Given the description of an element on the screen output the (x, y) to click on. 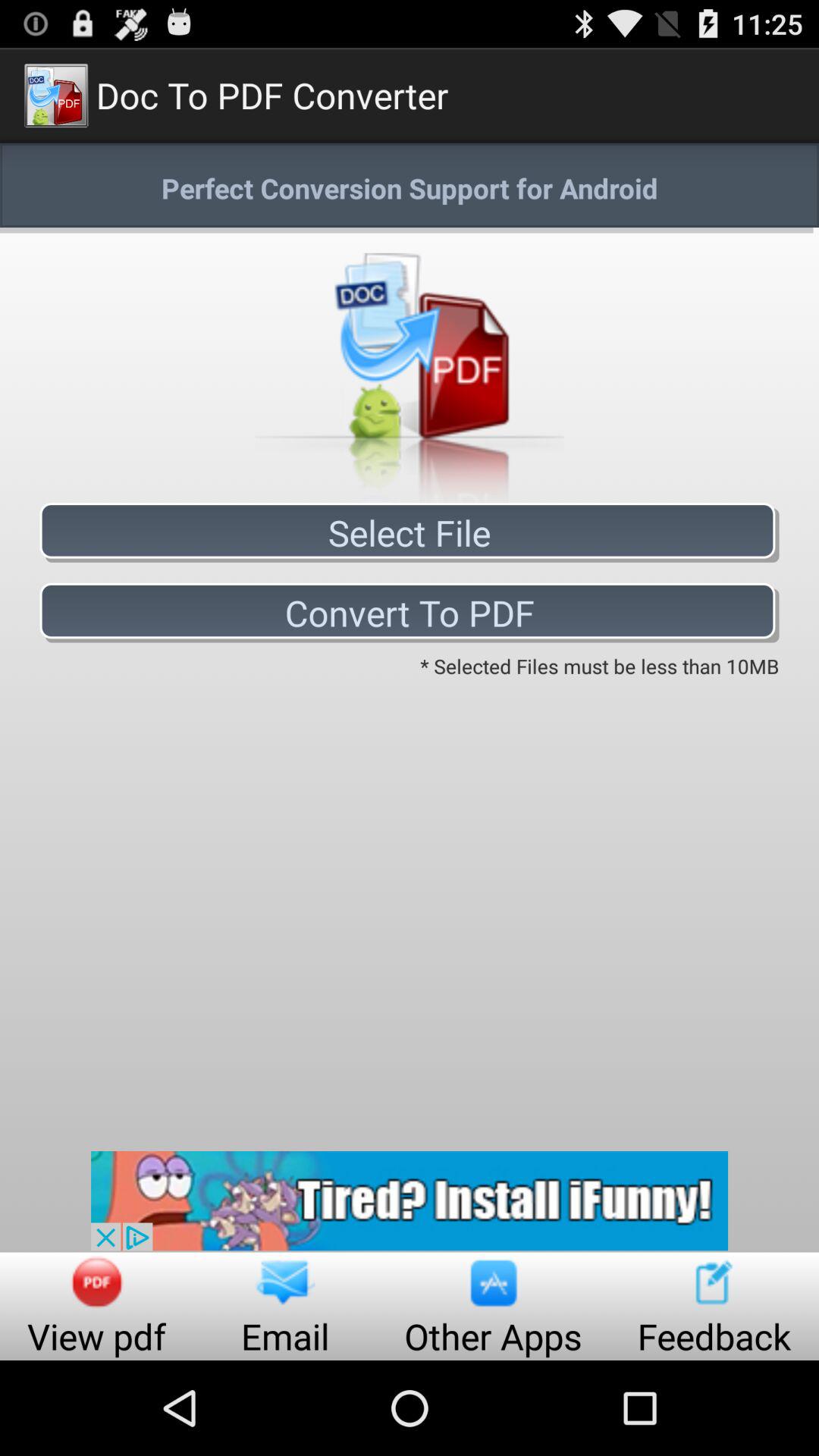
advantisment (409, 1200)
